Given the description of an element on the screen output the (x, y) to click on. 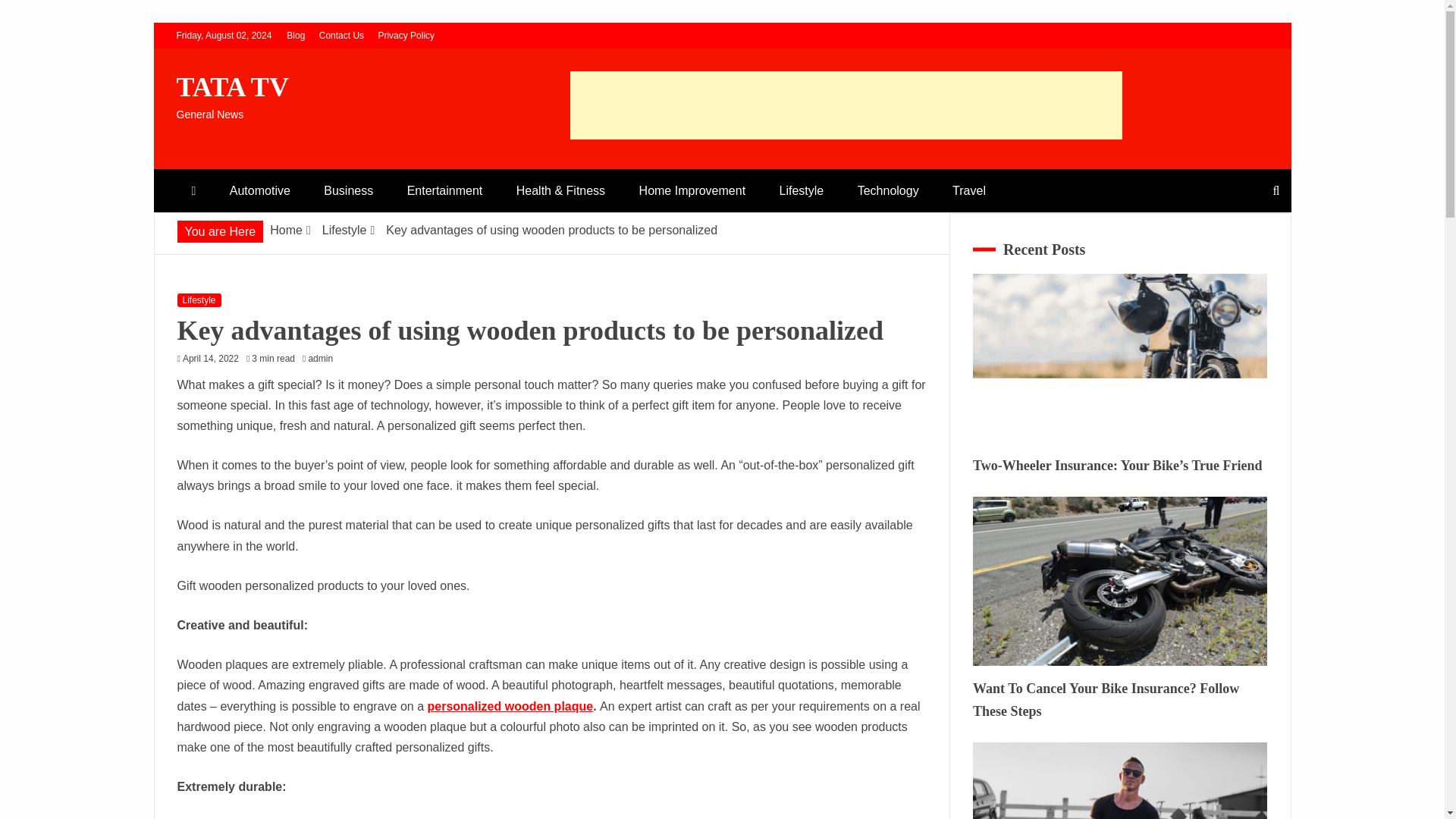
Advertisement (846, 105)
Automotive (259, 190)
Travel (969, 190)
Business (348, 190)
Privacy Policy (405, 35)
April 14, 2022 (210, 357)
Search (31, 13)
Contact Us (341, 35)
admin (323, 357)
personalized wooden plaque (509, 706)
TATA TV (232, 87)
Entertainment (444, 190)
Blog (295, 35)
Lifestyle (199, 300)
